Given the description of an element on the screen output the (x, y) to click on. 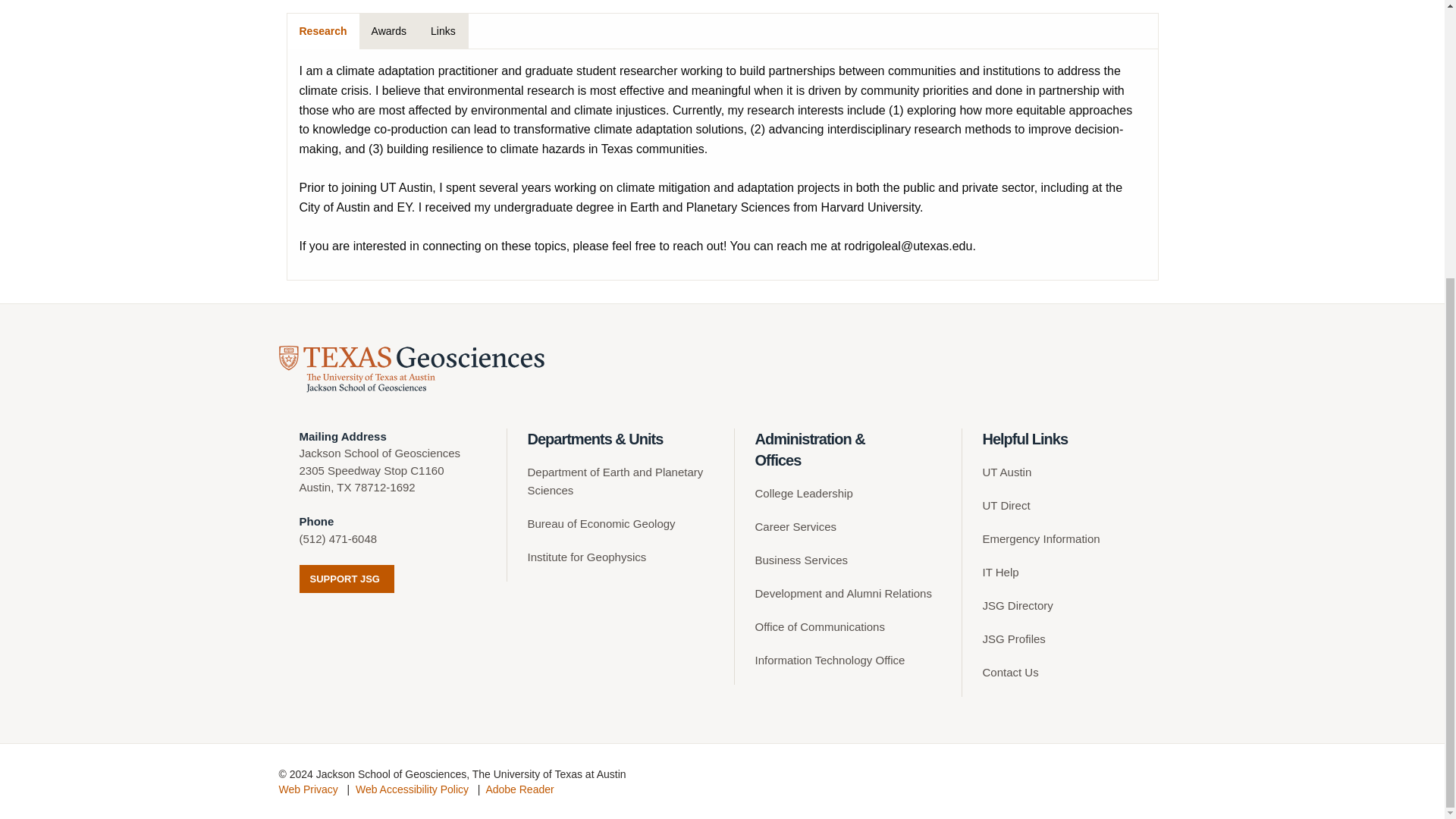
Jackson School of Geosciences (411, 368)
